Given the description of an element on the screen output the (x, y) to click on. 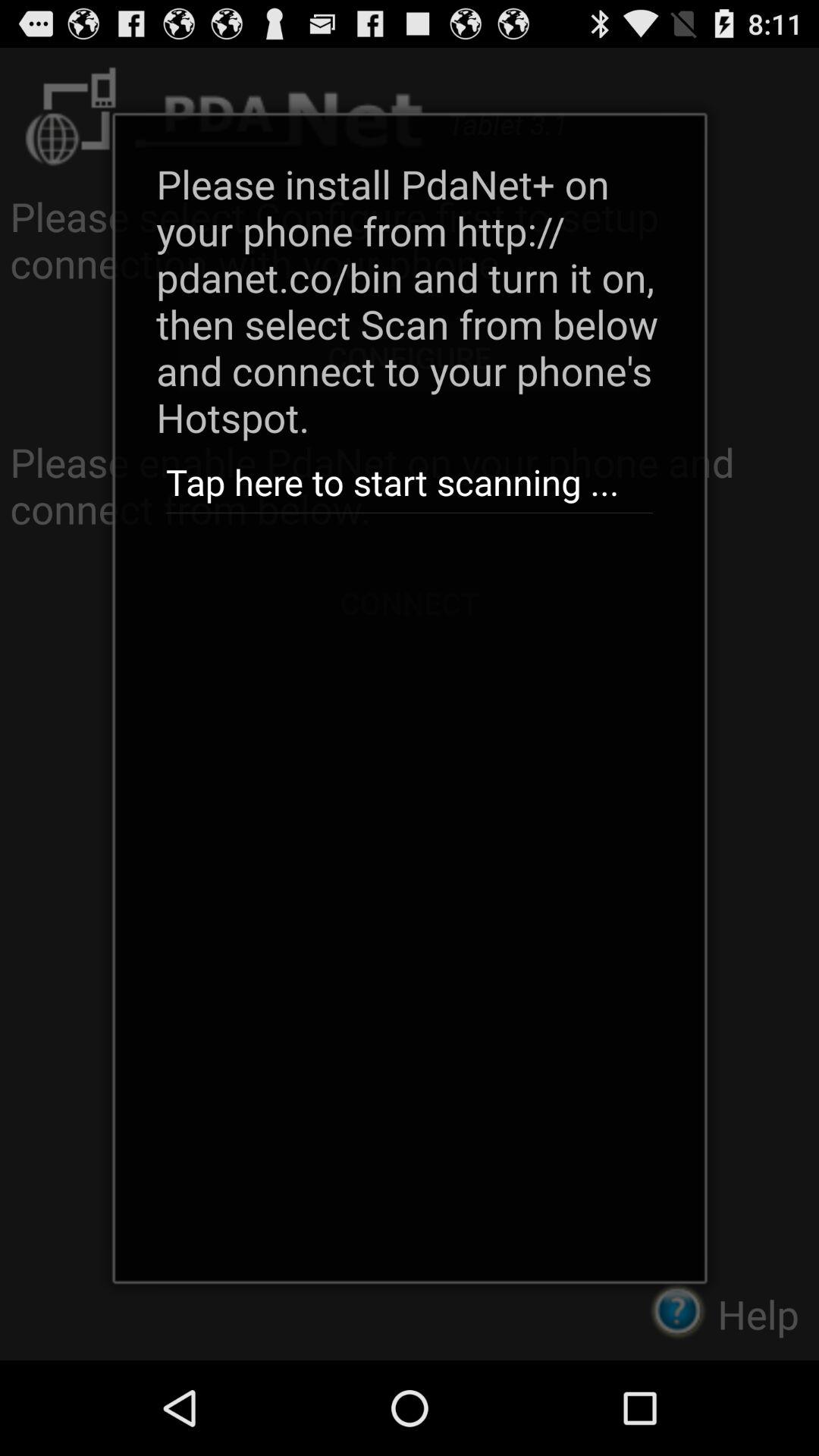
jump until tap here to icon (409, 482)
